Given the description of an element on the screen output the (x, y) to click on. 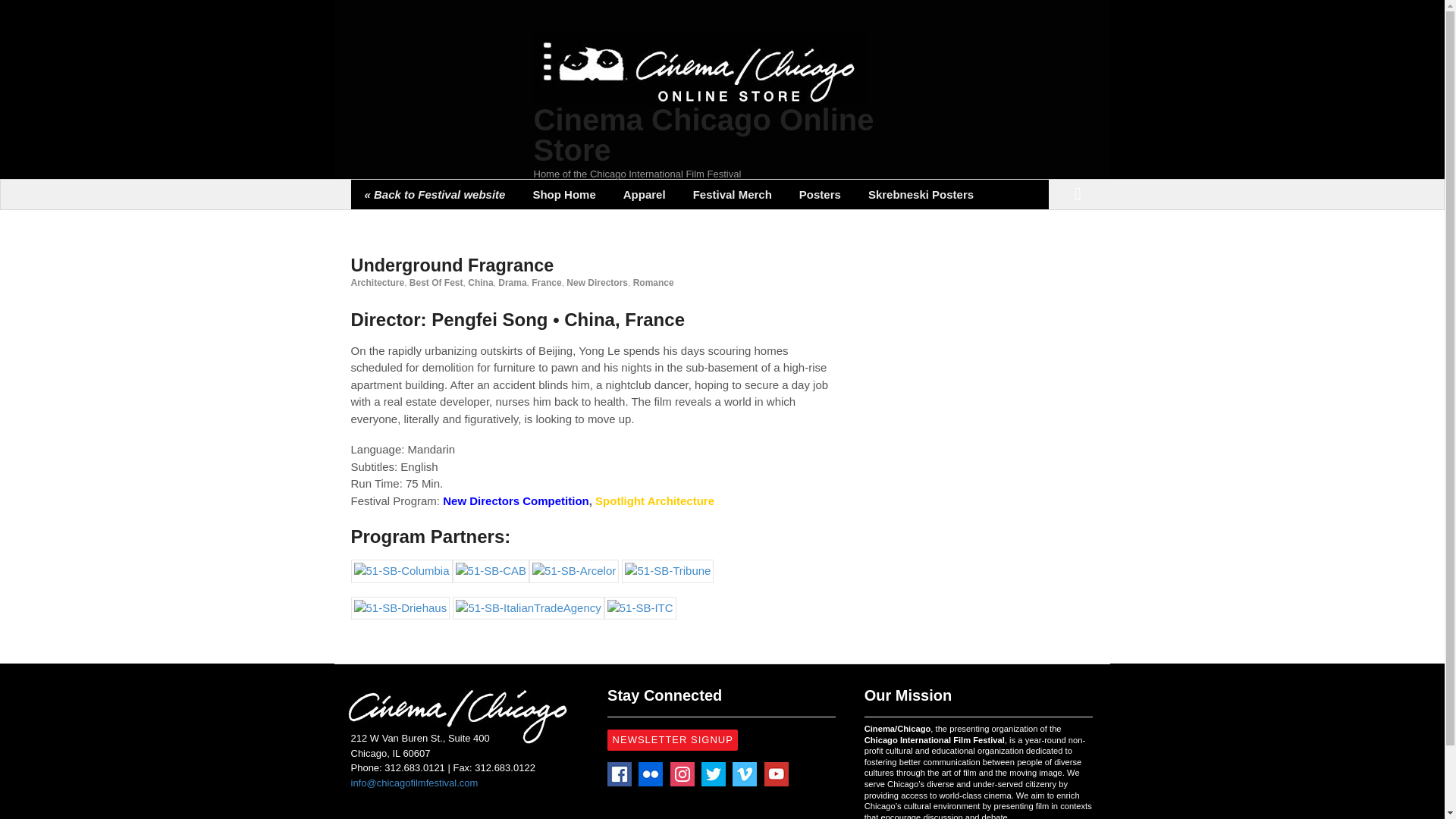
Romance (653, 282)
Cinema Chicago Online Store (704, 135)
Drama (511, 282)
View all items in Architecture (377, 282)
Festival Merch (732, 194)
Shop Home (563, 194)
View all items in New Directors (596, 282)
Twitter (713, 774)
View all items in Drama (511, 282)
Flickr (650, 774)
